Given the description of an element on the screen output the (x, y) to click on. 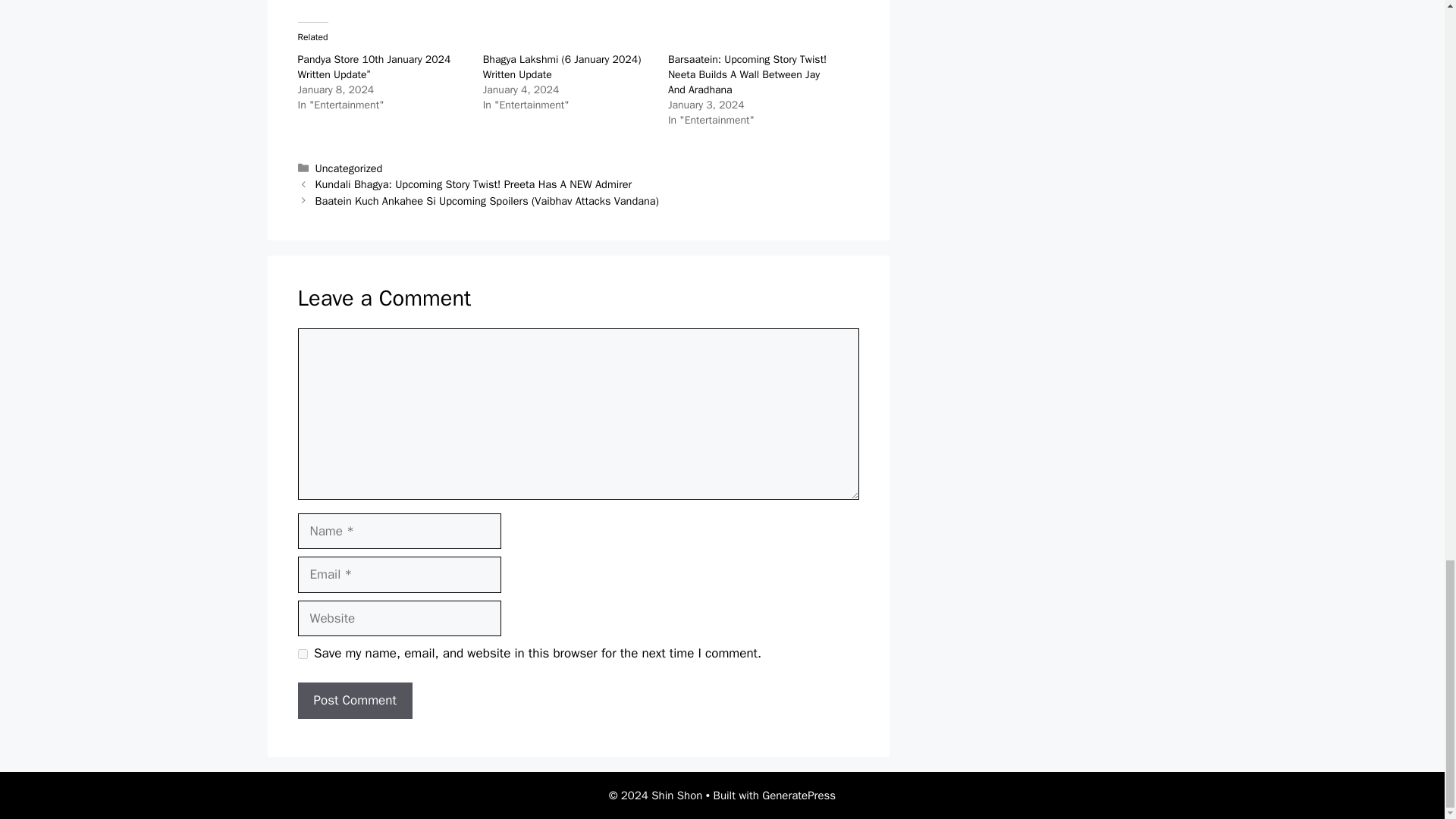
yes (302, 654)
GeneratePress (798, 795)
Uncategorized (348, 168)
Post Comment (354, 700)
Post Comment (354, 700)
